Given the description of an element on the screen output the (x, y) to click on. 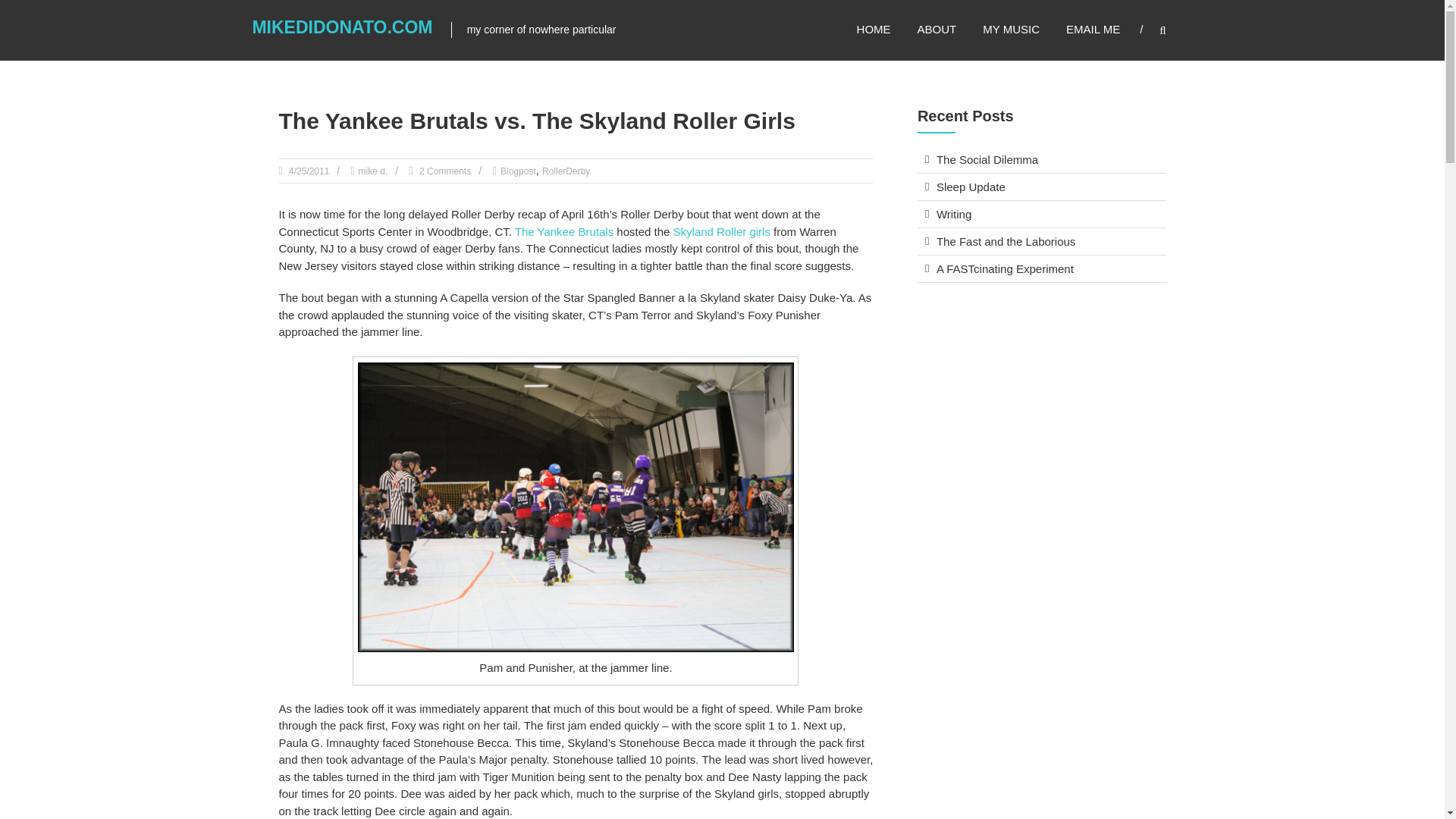
RollerDerby (565, 171)
EMAIL ME (1092, 29)
MikeDiDonato.com (341, 26)
Writing (953, 214)
ABOUT (936, 29)
The Fast and the Laborious (1005, 241)
MY MUSIC (1010, 29)
mike d. (373, 171)
10:00 pm (308, 171)
Blogpost (517, 171)
